Given the description of an element on the screen output the (x, y) to click on. 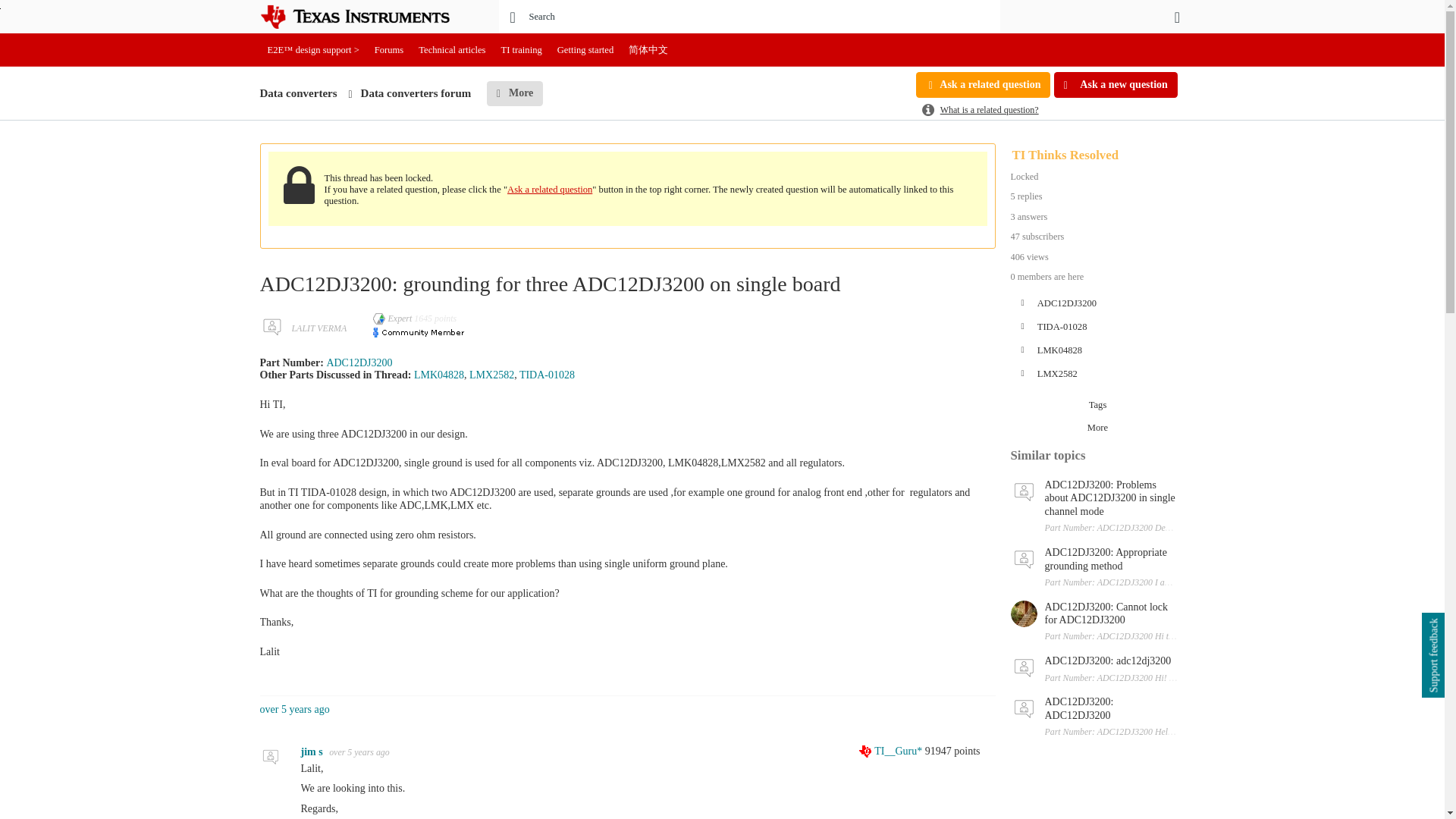
Forums (389, 49)
Link to Tool Folder (547, 374)
TI training (521, 49)
Link to Product Folder (438, 374)
Technical articles (451, 49)
Click here for explanation of levels (393, 317)
Join or sign in (1177, 17)
Click here for explanation of levels (891, 750)
Getting started (585, 49)
Link to Product Folder (358, 362)
